Given the description of an element on the screen output the (x, y) to click on. 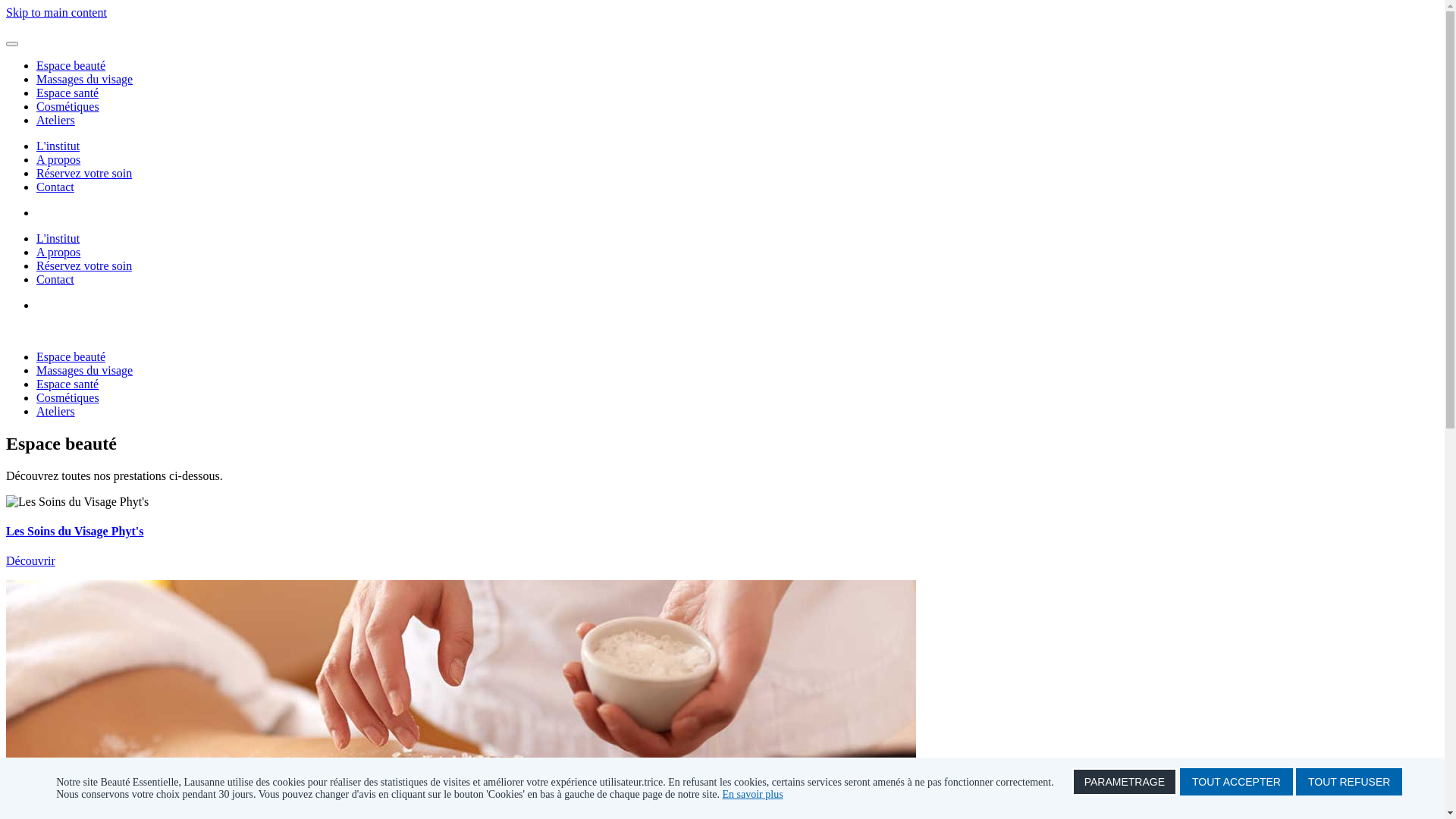
A propos Element type: text (58, 251)
L'institut Element type: text (57, 145)
Massages du visage Element type: text (84, 370)
TOUT ACCEPTER Element type: text (1235, 781)
A propos Element type: text (58, 159)
L'institut Element type: text (57, 238)
PARAMETRAGE Element type: text (1124, 781)
Contact Element type: text (55, 279)
Massages du visage Element type: text (84, 78)
En savoir plus Element type: text (752, 794)
Les Soins du Visage Phyt's Element type: text (74, 530)
TOUT REFUSER Element type: text (1348, 781)
Ateliers Element type: text (55, 119)
Skip to main content Element type: text (56, 12)
Contact Element type: text (55, 186)
Ateliers Element type: text (55, 410)
